Given the description of an element on the screen output the (x, y) to click on. 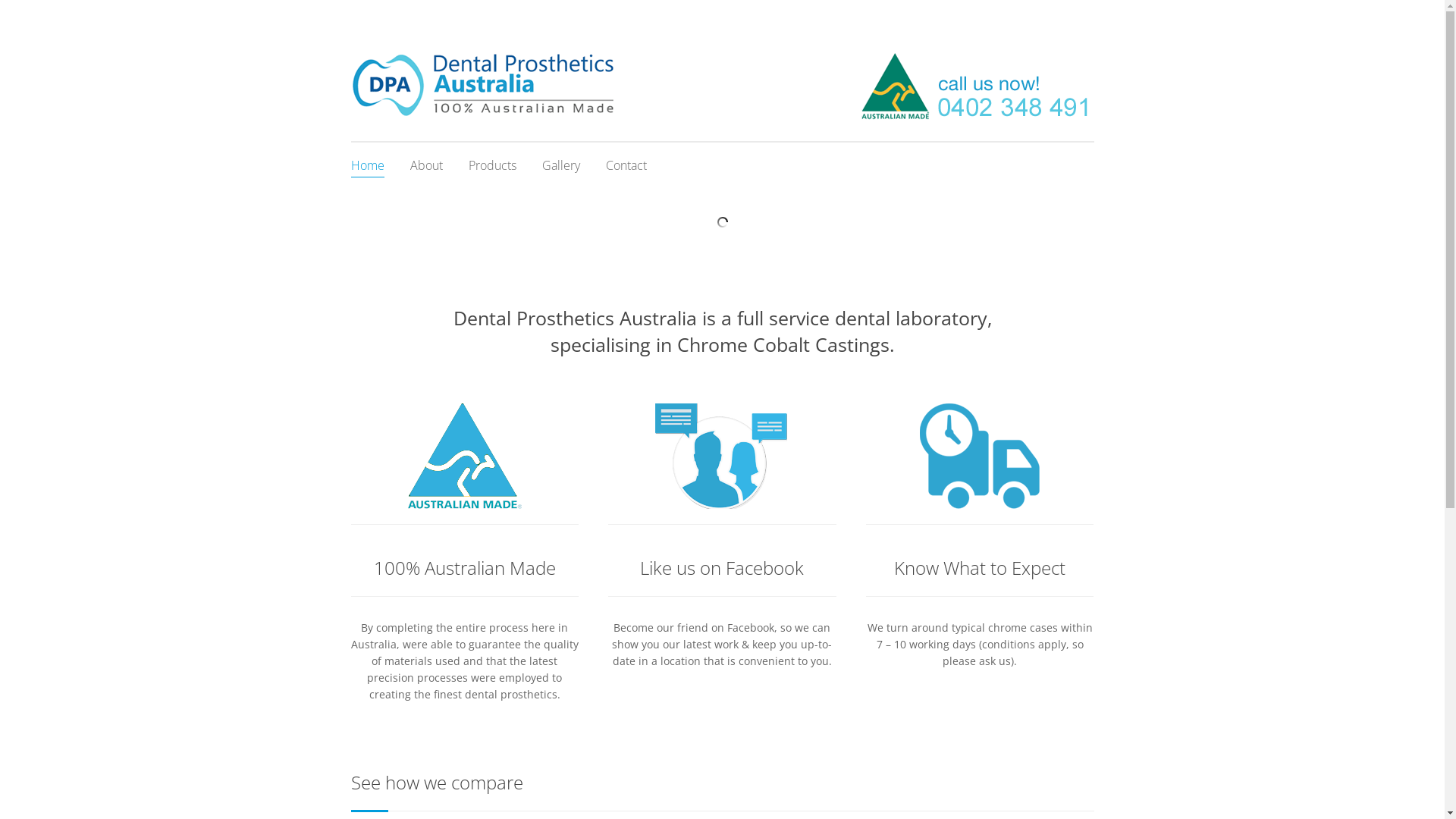
Products Element type: text (492, 165)
Contact Element type: hover (979, 455)
Gallery Element type: text (560, 165)
About Element type: text (425, 165)
Home Element type: text (366, 165)
About Element type: hover (463, 455)
Contact Element type: text (625, 165)
